Given the description of an element on the screen output the (x, y) to click on. 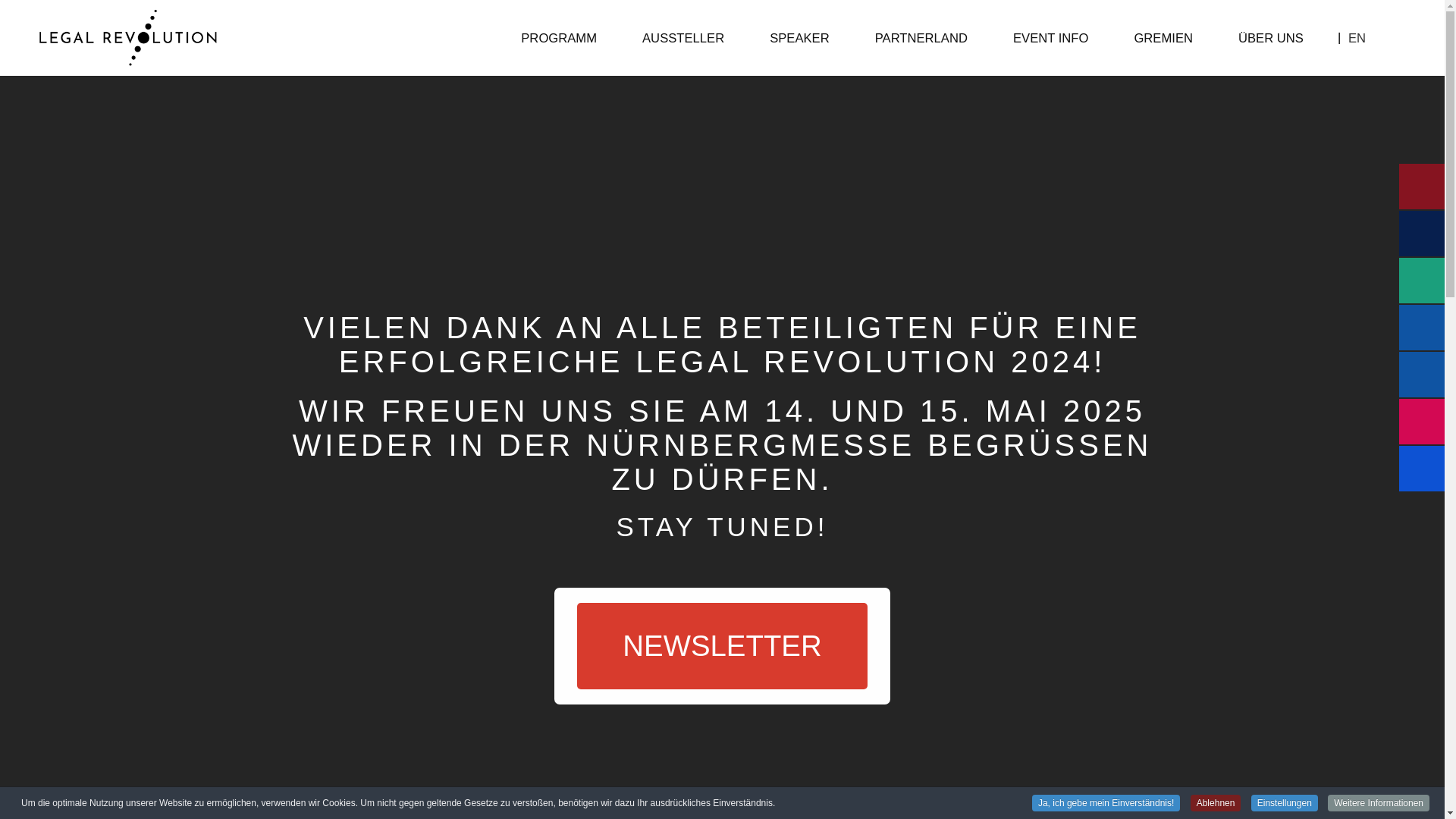
SPEAKER (798, 37)
EN (1356, 37)
AUSSTELLER (683, 37)
PROGRAMM (558, 37)
GREMIEN (1162, 37)
EVENT INFO (1050, 37)
PARTNERLAND (920, 37)
